Given the description of an element on the screen output the (x, y) to click on. 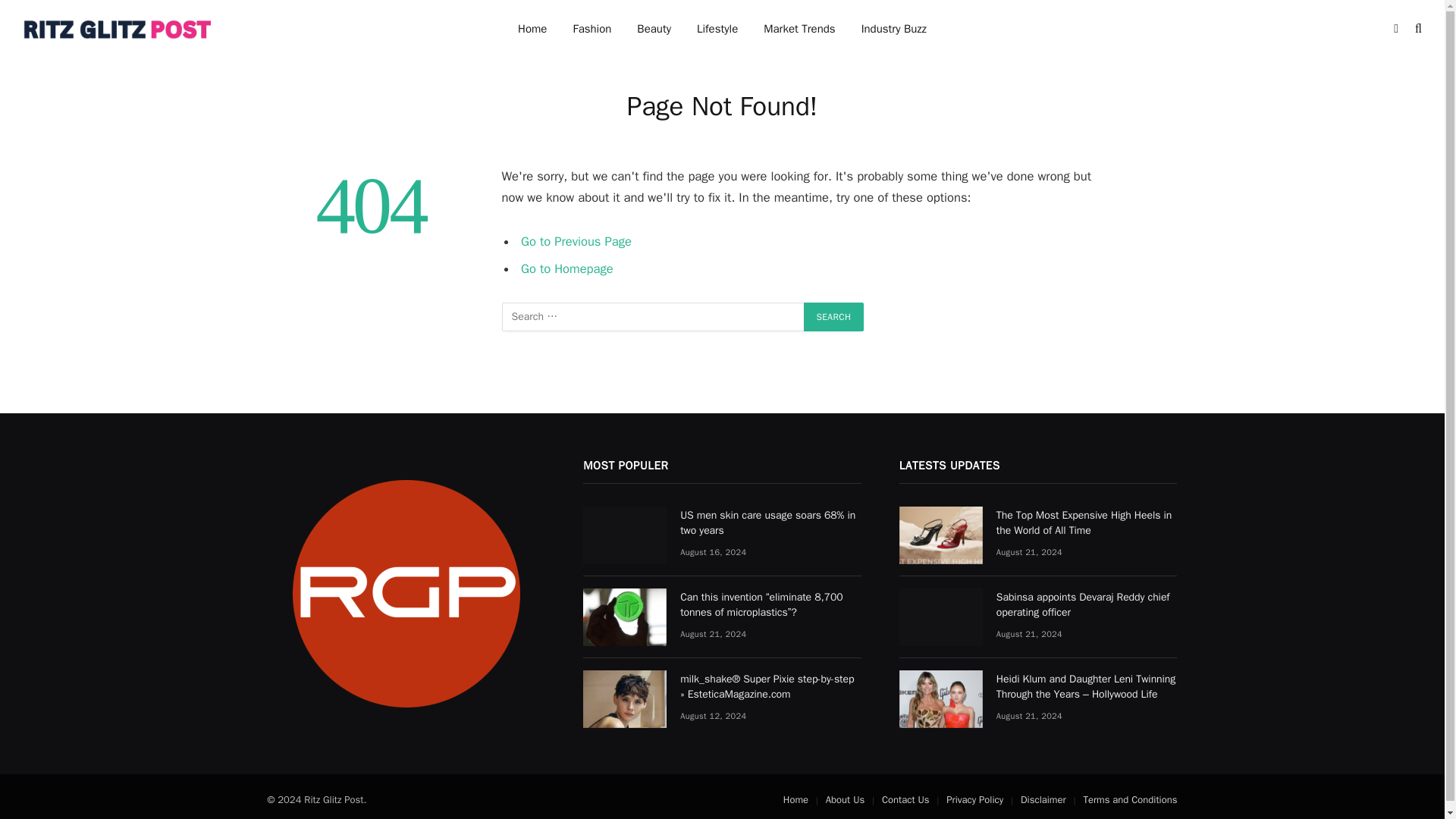
Search (833, 316)
Go to Previous Page (576, 241)
Market Trends (799, 28)
Sabinsa appoints Devaraj Reddy chief operating officer (1086, 604)
Home (532, 28)
About Us (844, 799)
The Top Most Expensive High Heels in the World of All Time (940, 535)
Sabinsa appoints Devaraj Reddy chief operating officer (940, 617)
Industry Buzz (893, 28)
Search (833, 316)
